Given the description of an element on the screen output the (x, y) to click on. 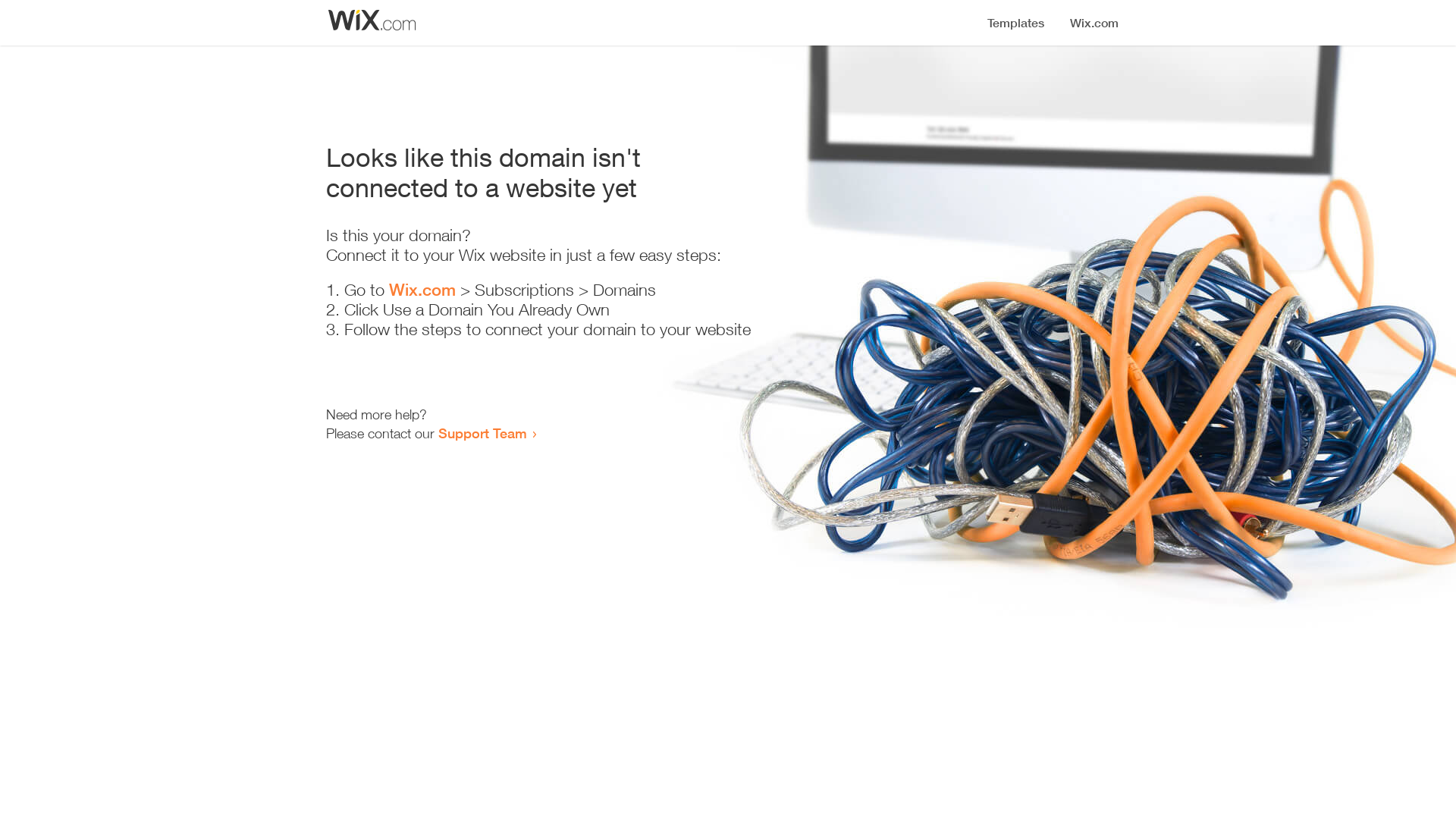
Wix.com Element type: text (422, 289)
Support Team Element type: text (482, 432)
